Given the description of an element on the screen output the (x, y) to click on. 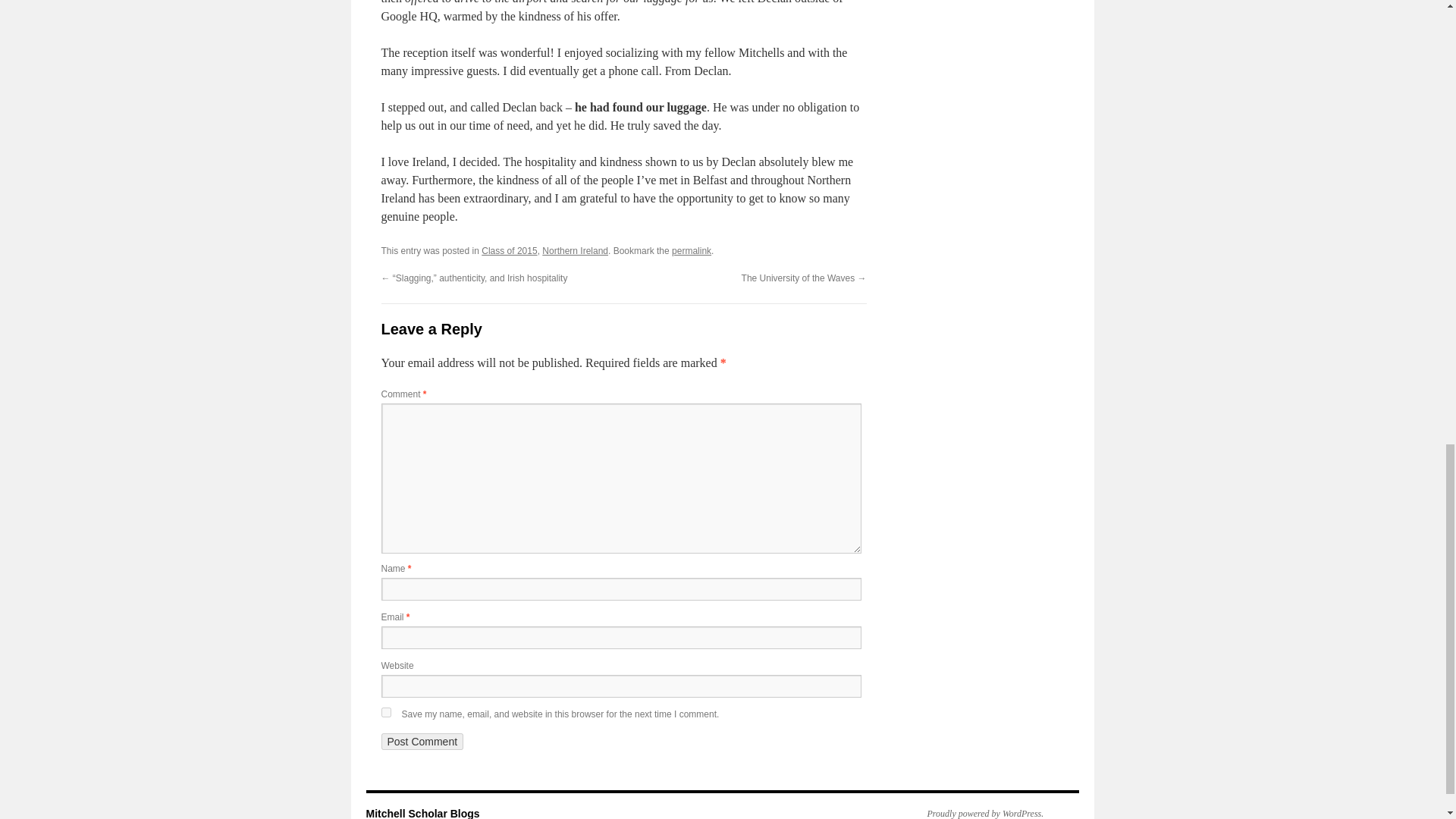
yes (385, 712)
Post Comment (421, 741)
Permalink to The Tale of Declan the Hero (691, 250)
Class of 2015 (509, 250)
Post Comment (421, 741)
permalink (691, 250)
Northern Ireland (574, 250)
